Given the description of an element on the screen output the (x, y) to click on. 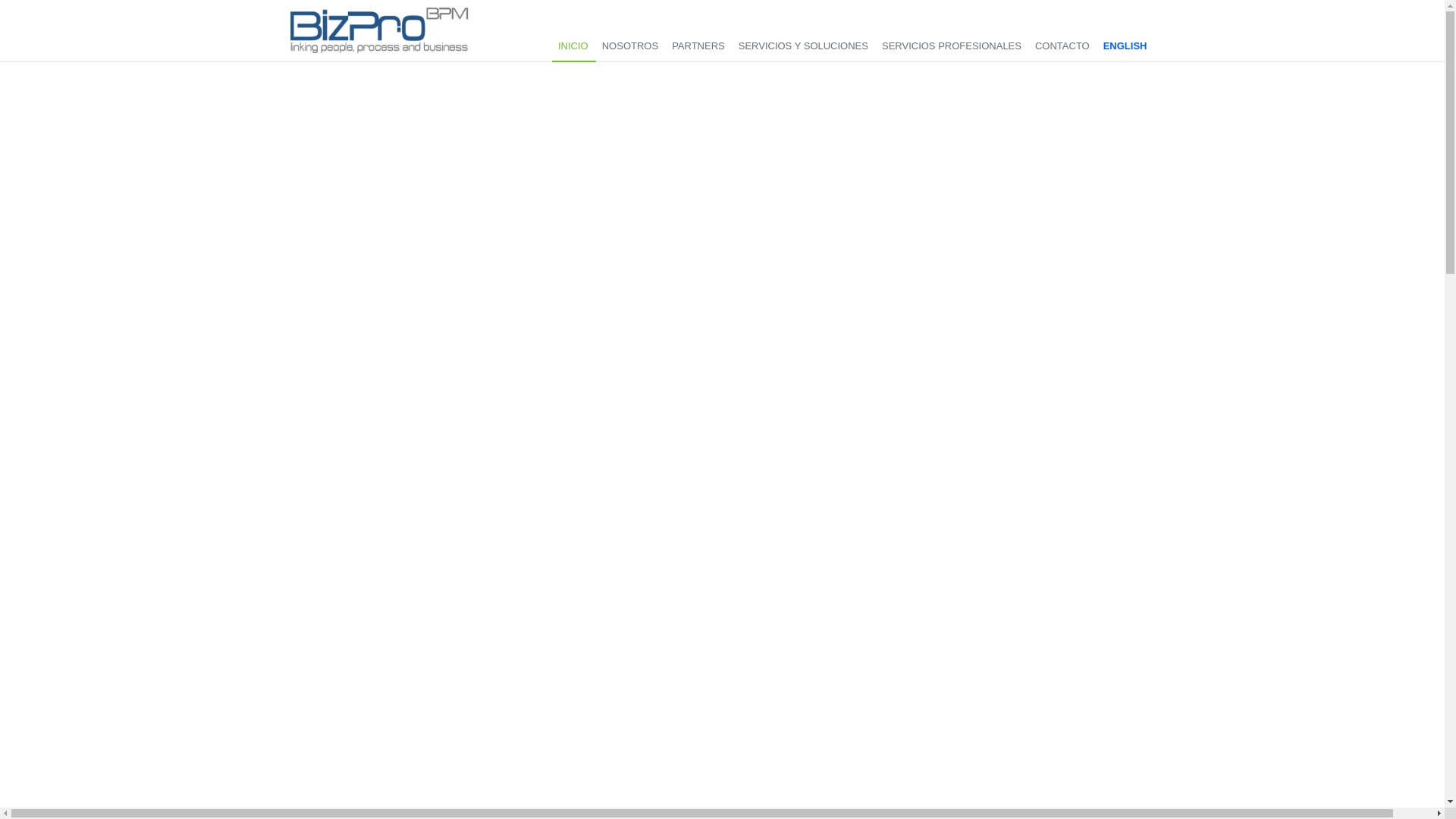
SERVICIOS Y SOLUCIONES Element type: text (803, 46)
SERVICIOS PROFESIONALES Element type: text (952, 46)
CONTACTO Element type: text (1063, 46)
PARTNERS Element type: text (698, 46)
NOSOTROS Element type: text (630, 46)
ENGLISH Element type: text (1125, 46)
INICIO Element type: text (574, 46)
